Given the description of an element on the screen output the (x, y) to click on. 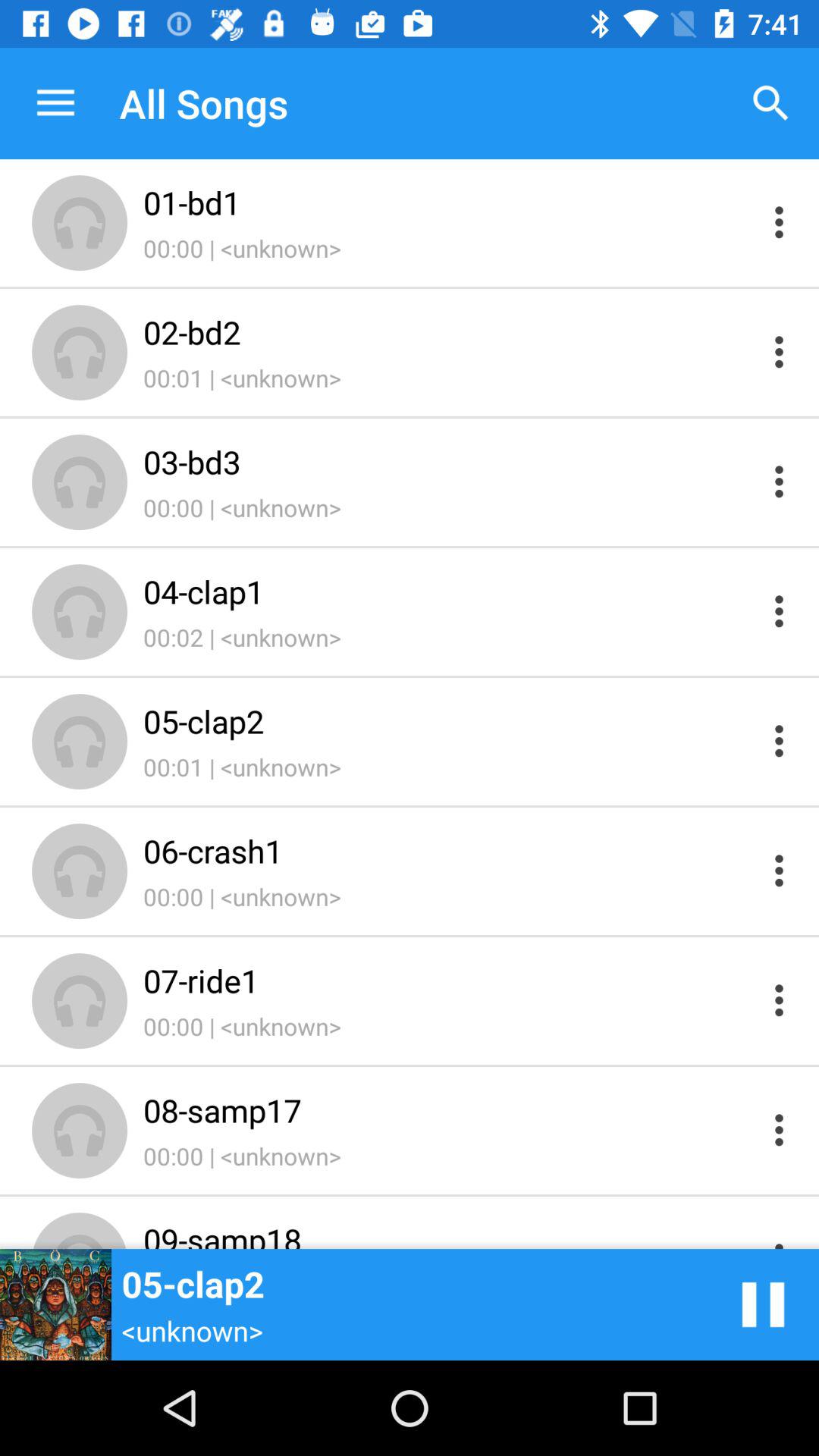
select the item next to the all songs app (55, 103)
